Given the description of an element on the screen output the (x, y) to click on. 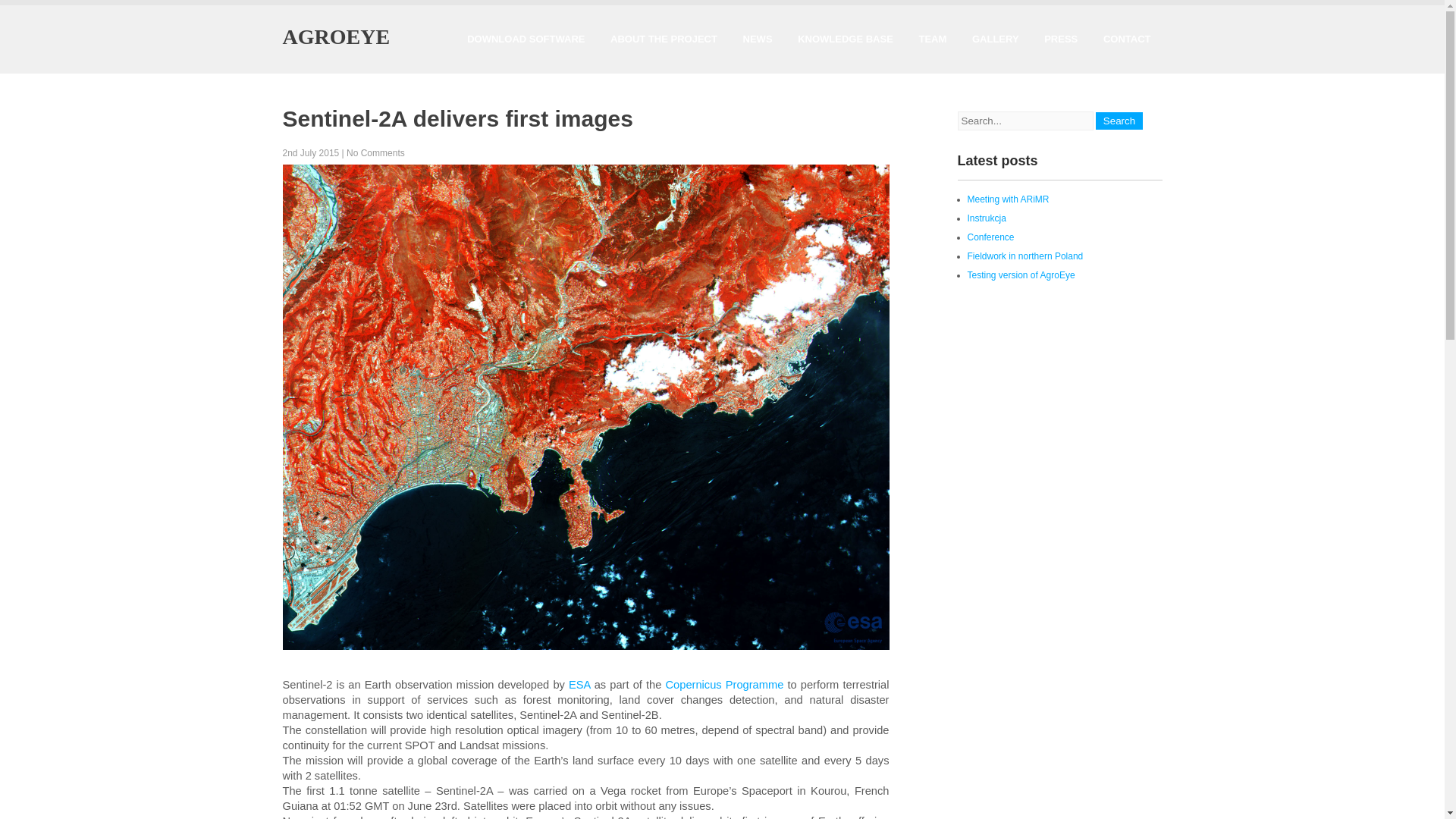
No Comments (375, 153)
Copernicus Programme (724, 684)
KNOWLEDGE BASE (845, 38)
Testing version of AgroEye (1021, 275)
Instrukcja (987, 217)
Search (1119, 120)
ESA (580, 684)
Meeting with ARiMR (1008, 199)
GALLERY (995, 38)
Conference (991, 236)
CONTACT (1126, 38)
Fieldwork in northern Poland (1025, 255)
DOWNLOAD SOFTWARE (525, 38)
Search (1119, 120)
Search (1119, 120)
